Given the description of an element on the screen output the (x, y) to click on. 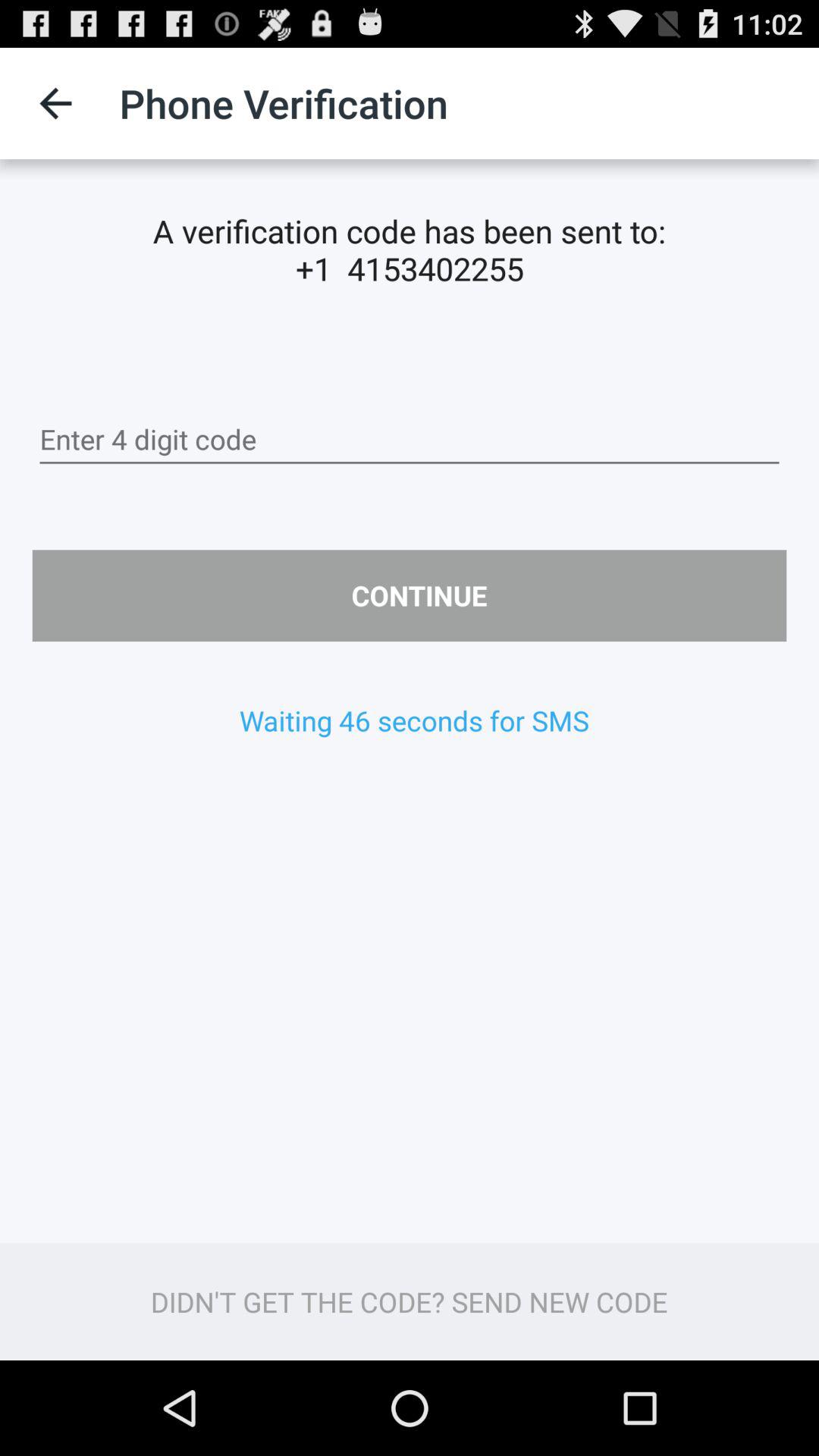
enter verification code (409, 439)
